Given the description of an element on the screen output the (x, y) to click on. 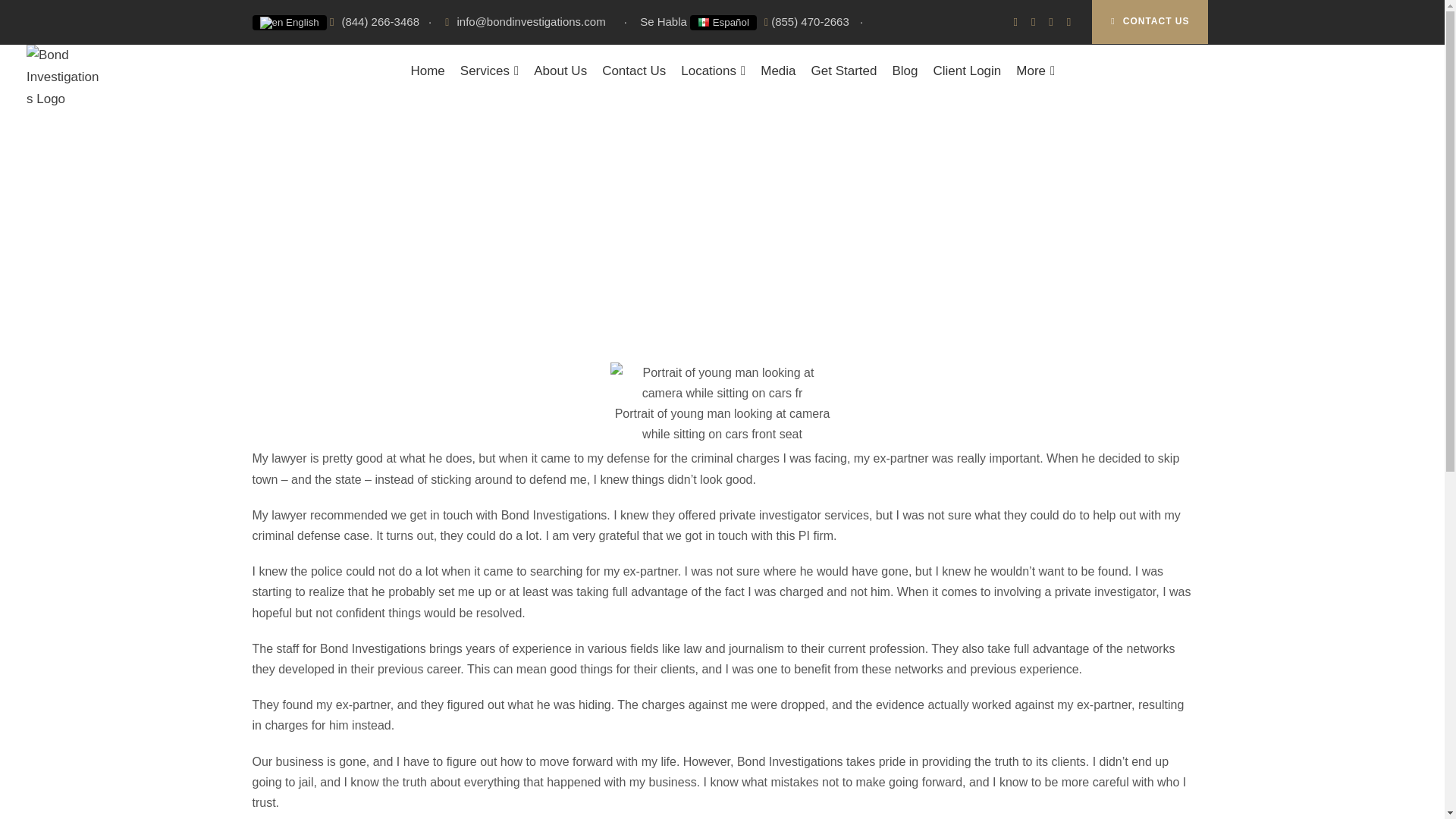
Logo-small (63, 76)
